Given the description of an element on the screen output the (x, y) to click on. 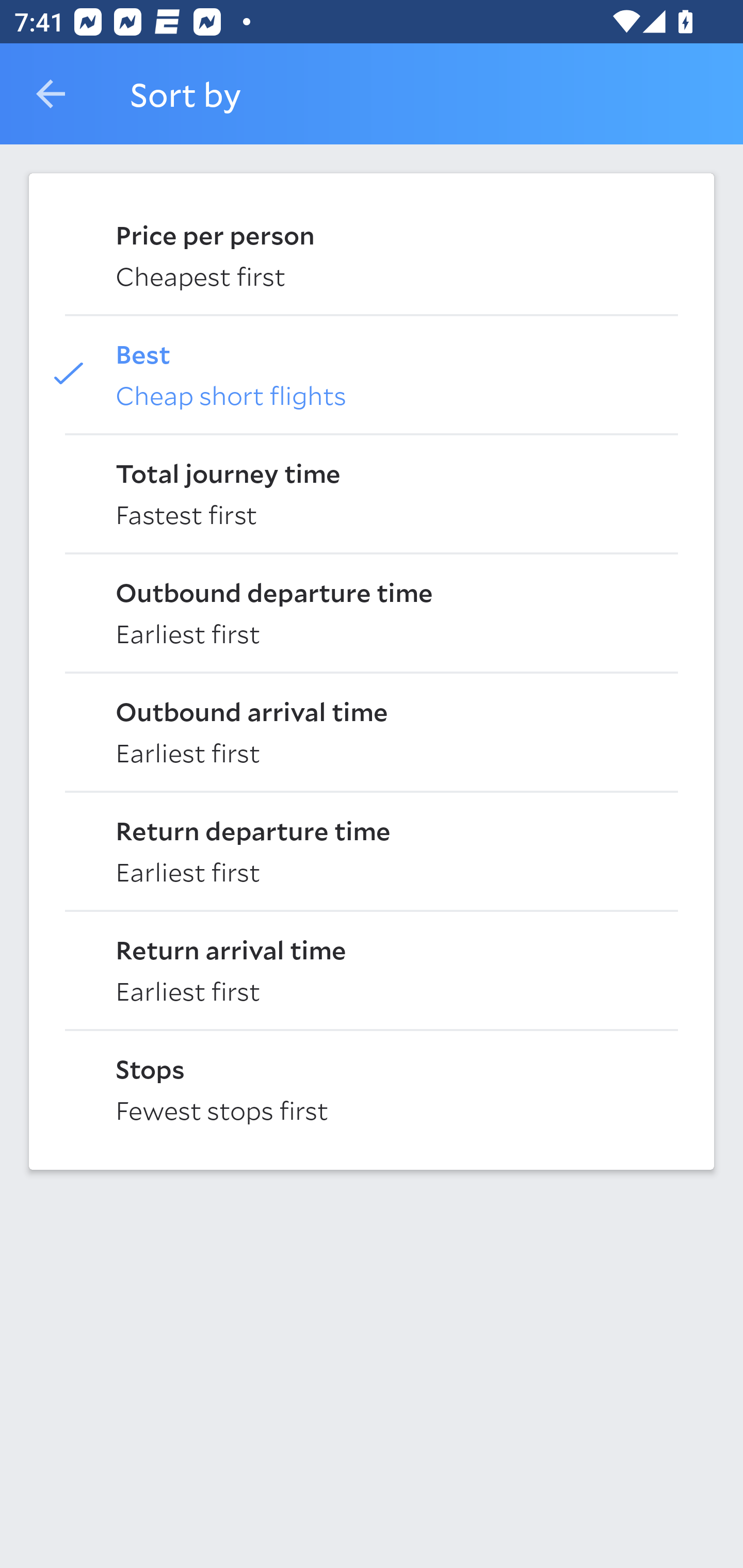
Navigate up (50, 93)
Price per person Cheapest first (371, 253)
Best Cheap short flights (371, 372)
Total journey time Fastest first (371, 491)
Outbound departure time Earliest first (371, 611)
Outbound arrival time Earliest first (371, 730)
Return departure time Earliest first (371, 849)
Return arrival time Earliest first (371, 968)
Stops Fewest stops first (371, 1087)
